Given the description of an element on the screen output the (x, y) to click on. 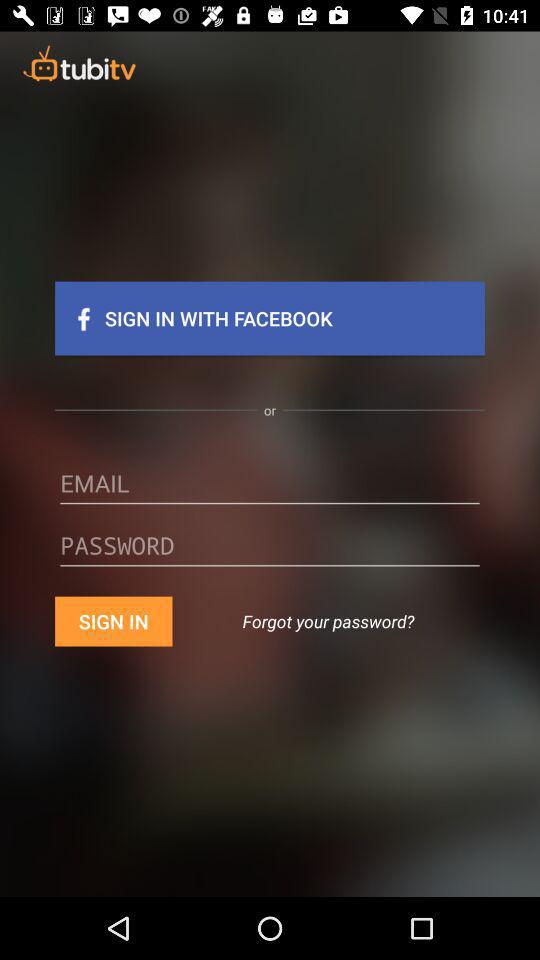
tap item next to the sign in (328, 621)
